Given the description of an element on the screen output the (x, y) to click on. 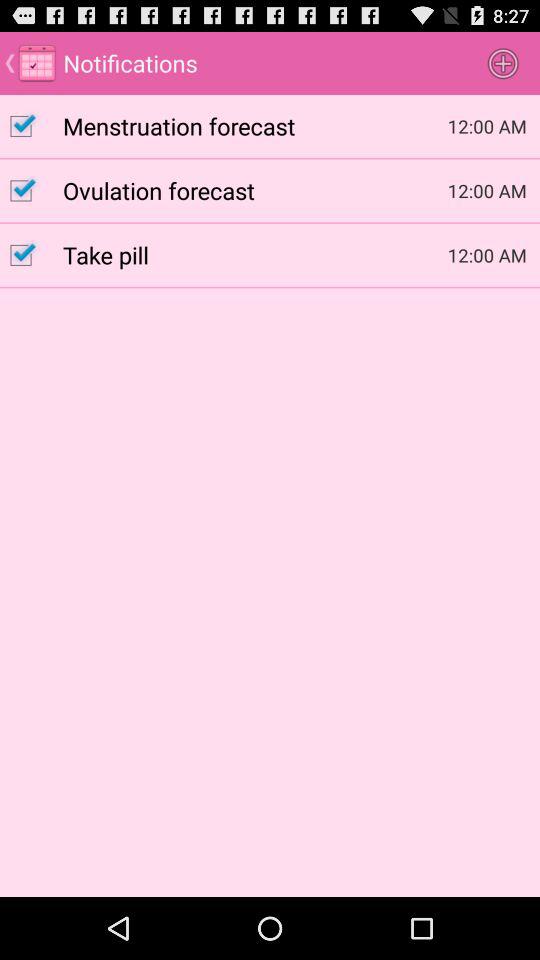
choose the item above 12:00 am item (503, 62)
